Given the description of an element on the screen output the (x, y) to click on. 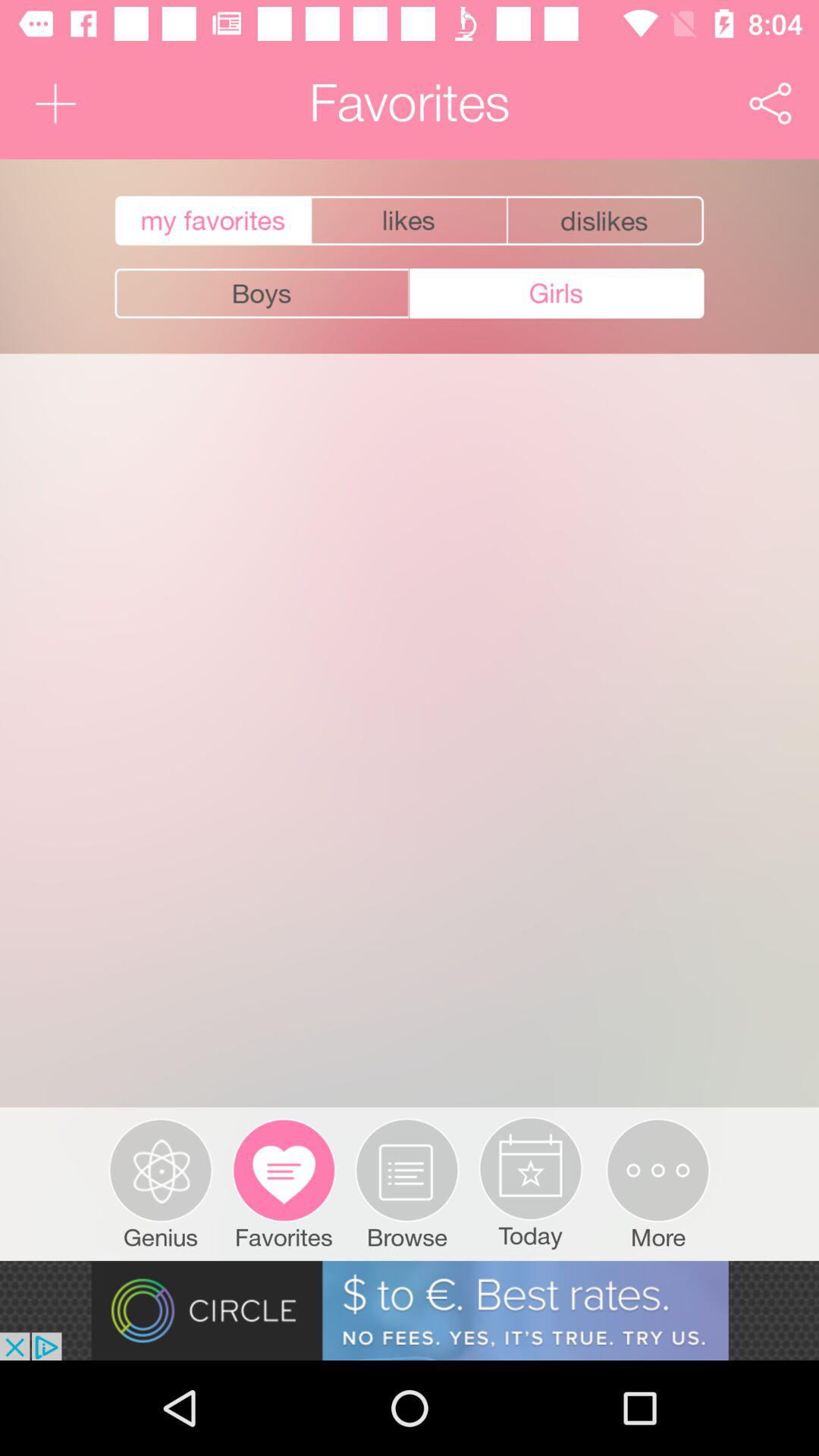
go to favorites (211, 220)
